Given the description of an element on the screen output the (x, y) to click on. 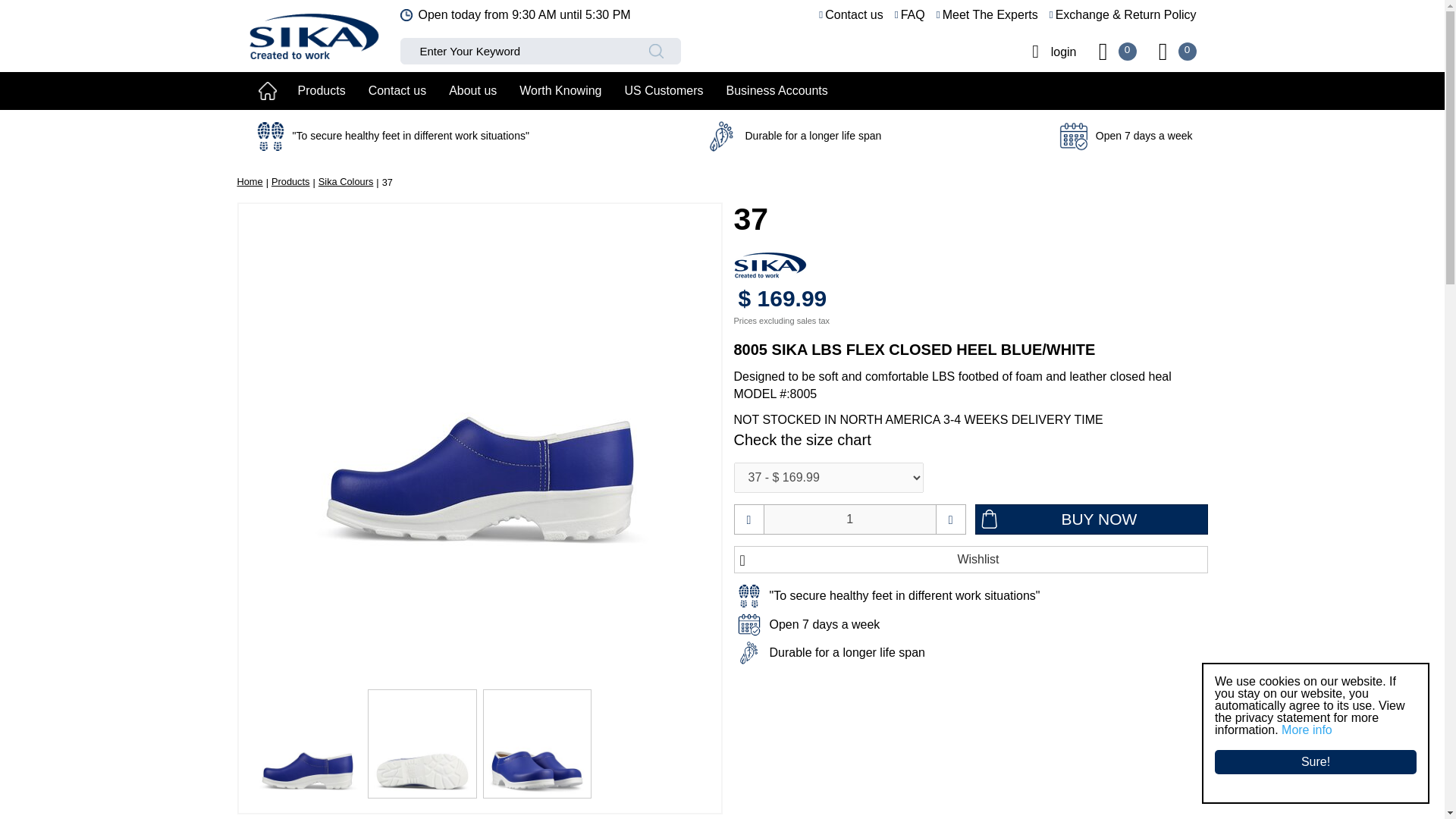
Categories (321, 90)
Sika Colours (346, 182)
Go to the shopping cart (1162, 51)
Worth Knowing (560, 90)
Products (290, 182)
US Customers (663, 90)
FAQ (909, 14)
Sika Footwear in Calgary (314, 33)
Home (267, 90)
Meet The Experts (987, 14)
Home (248, 182)
Business Accounts (777, 90)
login (1048, 51)
Sika Colours (346, 182)
Contact us (850, 14)
